Given the description of an element on the screen output the (x, y) to click on. 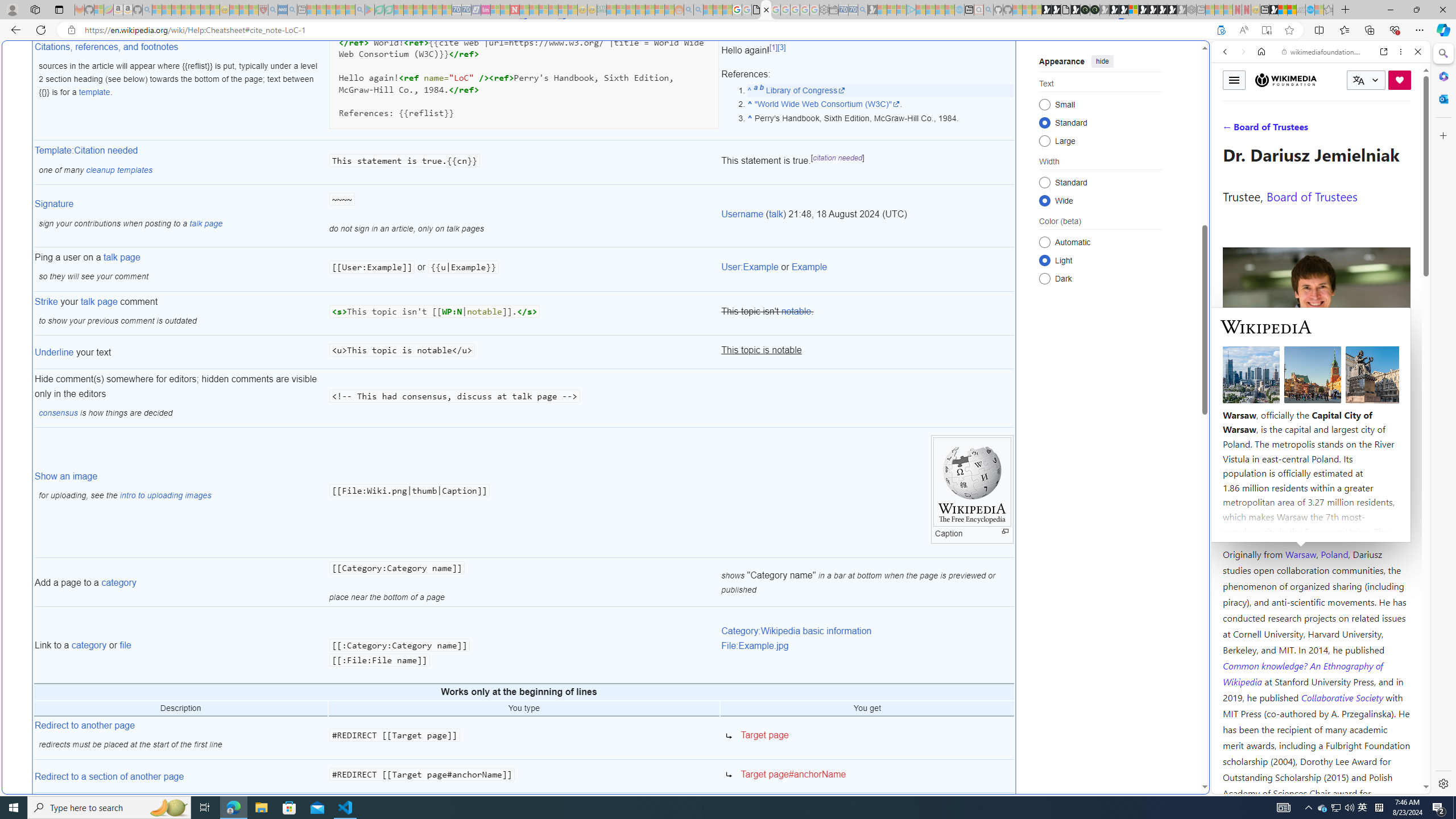
Support Wikipedia? (1220, 29)
User:Example (749, 267)
